Given the description of an element on the screen output the (x, y) to click on. 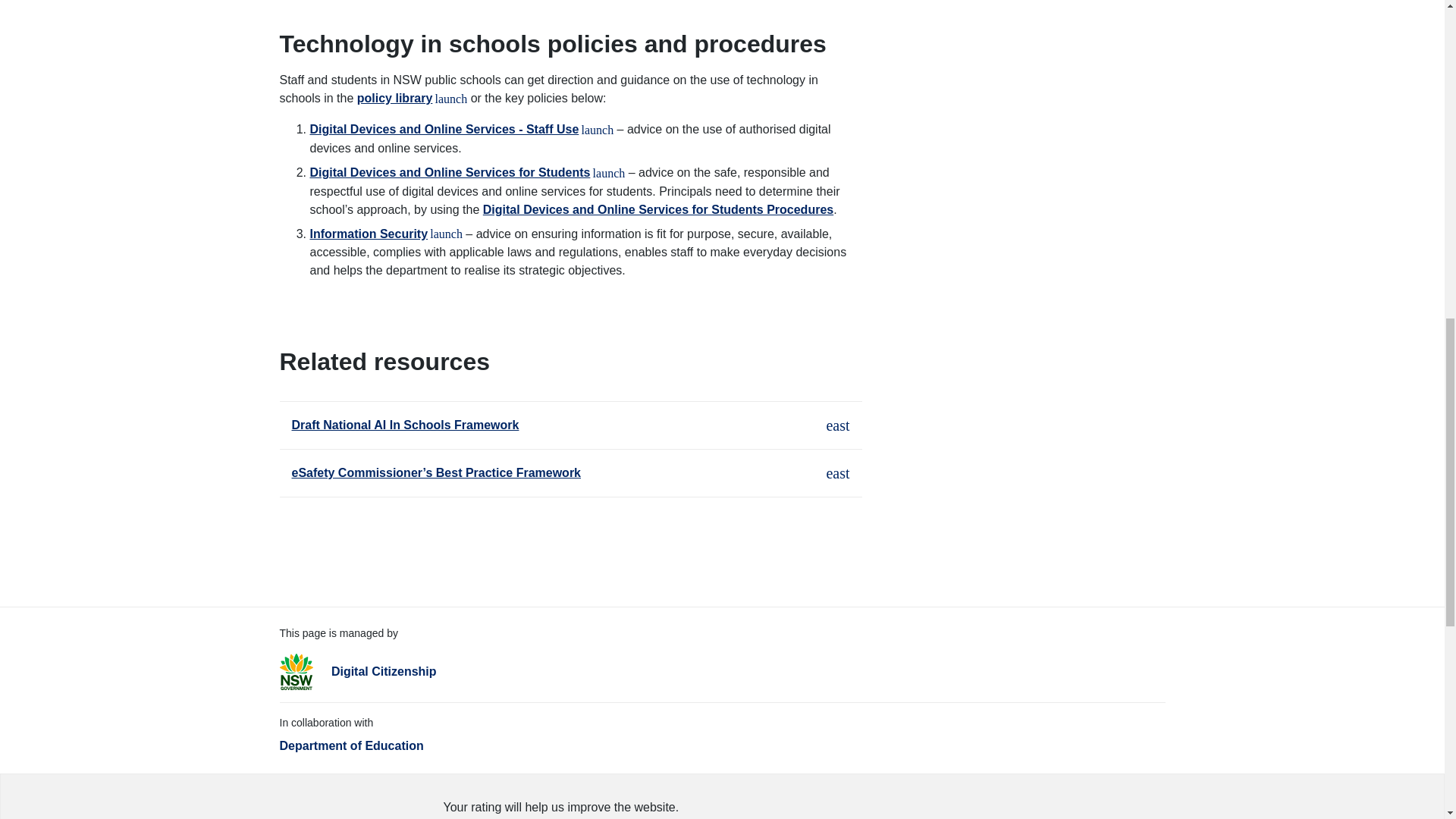
Information Security (384, 233)
Digital Devices and Online Services - Staff Use (460, 128)
policy library (411, 97)
Digital Devices and Online Services for Students (466, 172)
Digital Devices and Online Services for Students Procedures (657, 209)
